Given the description of an element on the screen output the (x, y) to click on. 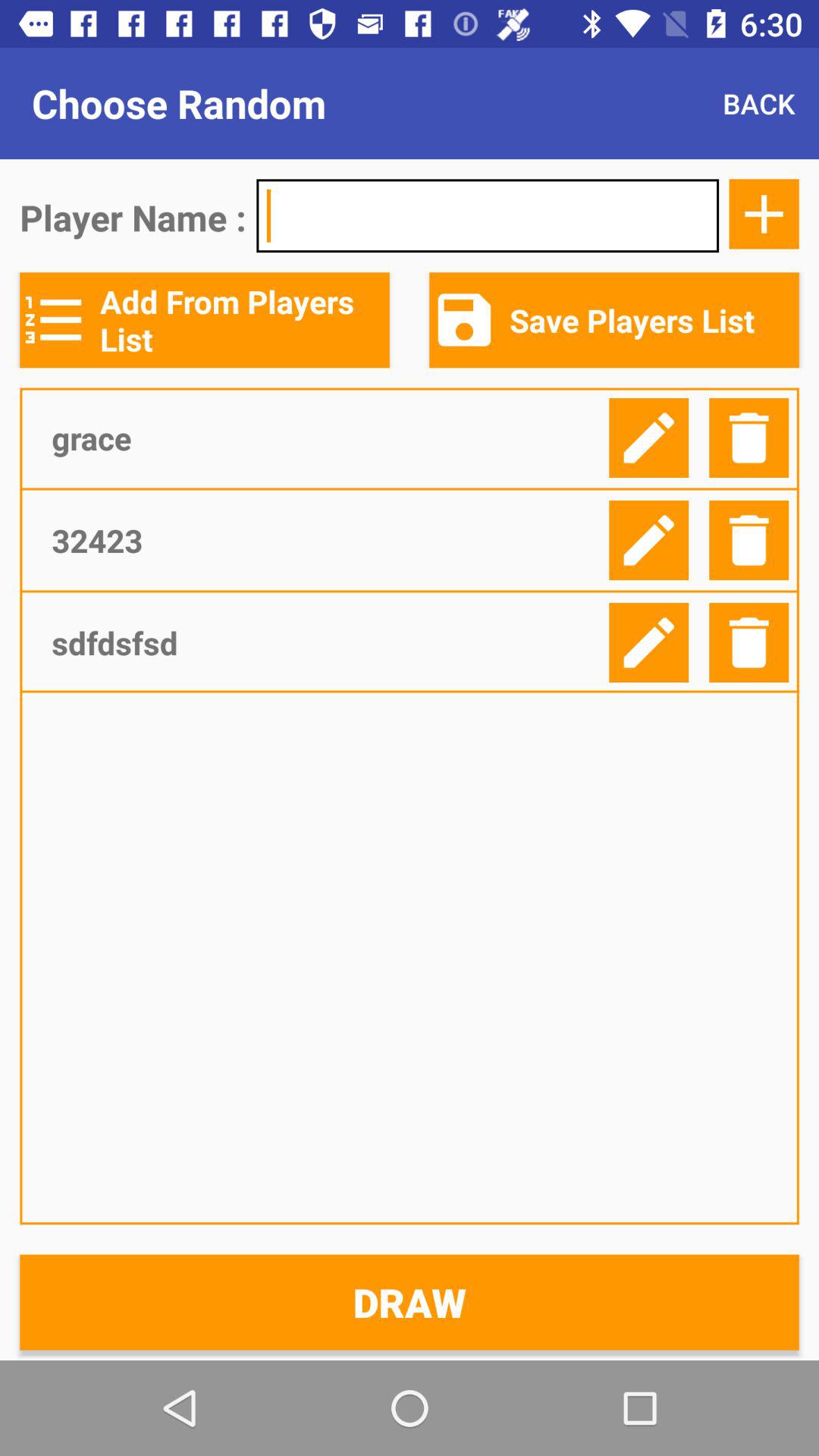
delete selected line (748, 540)
